Given the description of an element on the screen output the (x, y) to click on. 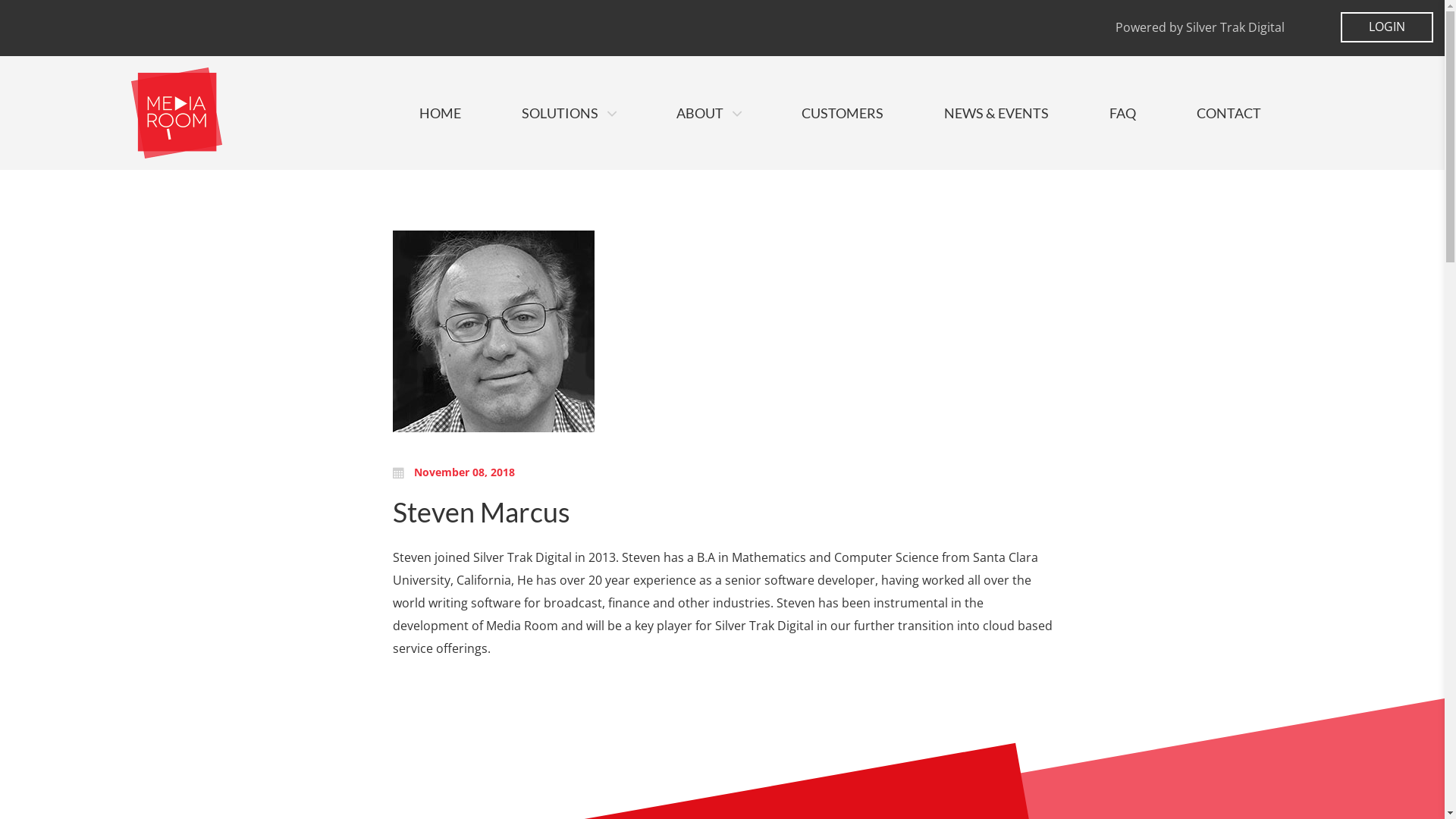
SOLUTIONS Element type: text (568, 112)
Mediaroom Element type: text (175, 112)
NEWS & EVENTS Element type: text (995, 112)
HOME Element type: text (439, 112)
LOGIN Element type: text (1386, 27)
CUSTOMERS Element type: text (841, 112)
ABOUT Element type: text (708, 112)
FAQ Element type: text (1121, 112)
Powered by Silver Trak Digital Element type: text (1199, 26)
CONTACT Element type: text (1228, 112)
